Given the description of an element on the screen output the (x, y) to click on. 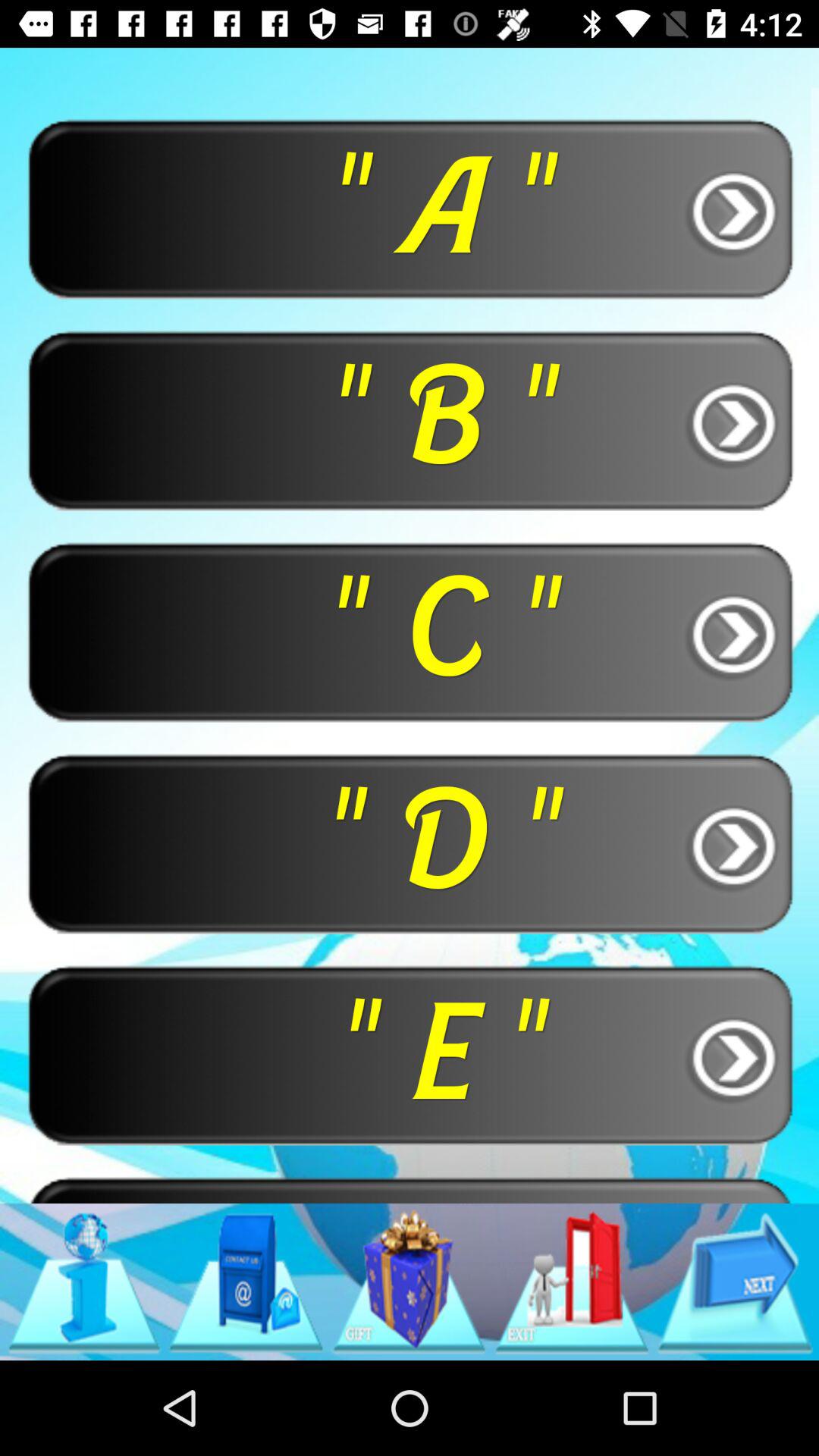
choose item below   " f " (408, 1281)
